Given the description of an element on the screen output the (x, y) to click on. 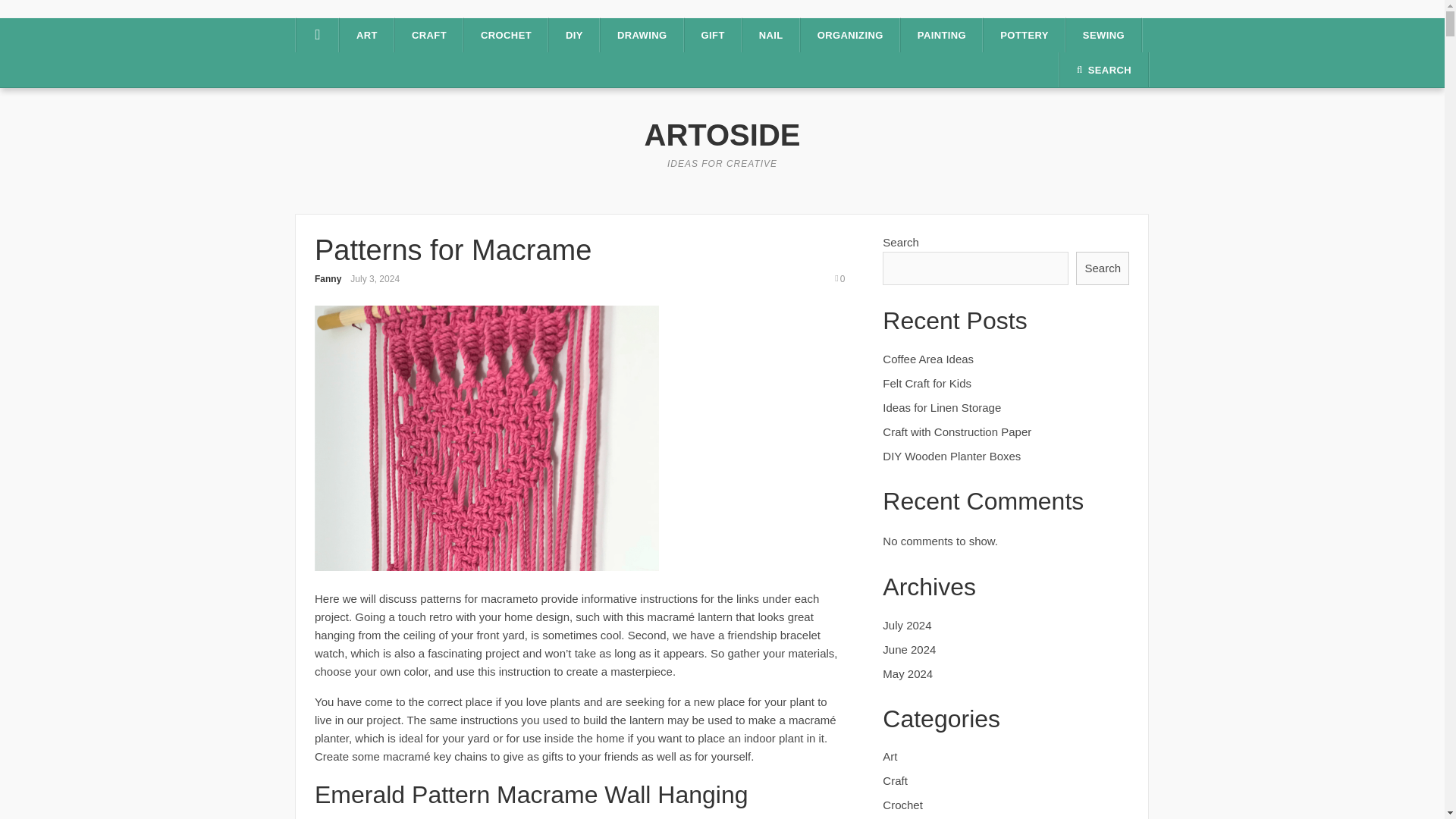
DIY (573, 35)
SEWING (1103, 35)
CROCHET (506, 35)
PAINTING (941, 35)
Coffee Area Ideas (928, 358)
CRAFT (428, 35)
NAIL (770, 35)
DRAWING (641, 35)
Felt Craft for Kids (926, 382)
Ideas for Linen Storage (941, 407)
POTTERY (1024, 35)
GIFT (712, 35)
Search (1102, 268)
ARTOSIDE (722, 134)
Craft with Construction Paper (956, 431)
